Given the description of an element on the screen output the (x, y) to click on. 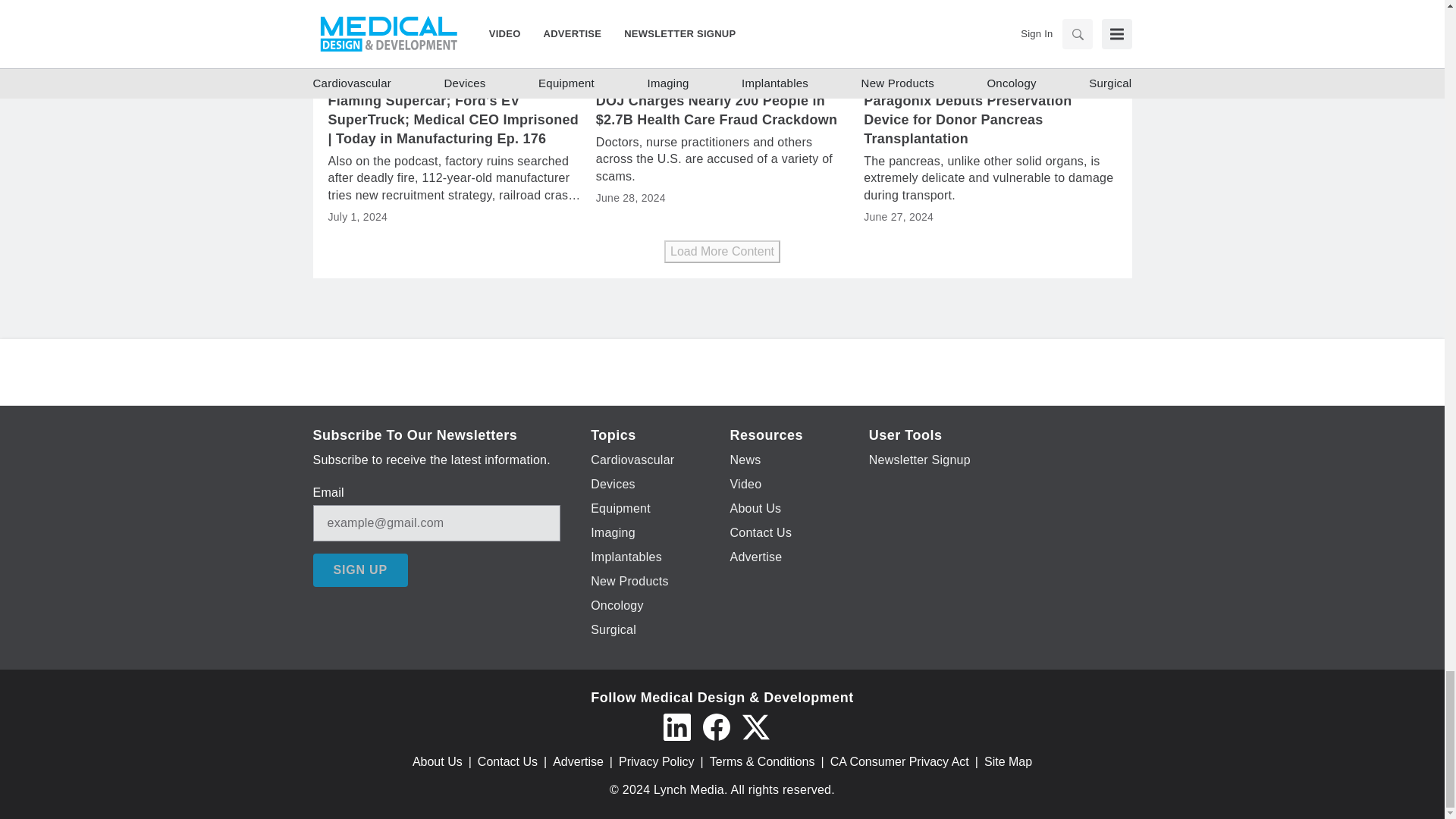
Twitter X icon (754, 727)
LinkedIn icon (676, 727)
Facebook icon (715, 727)
